Given the description of an element on the screen output the (x, y) to click on. 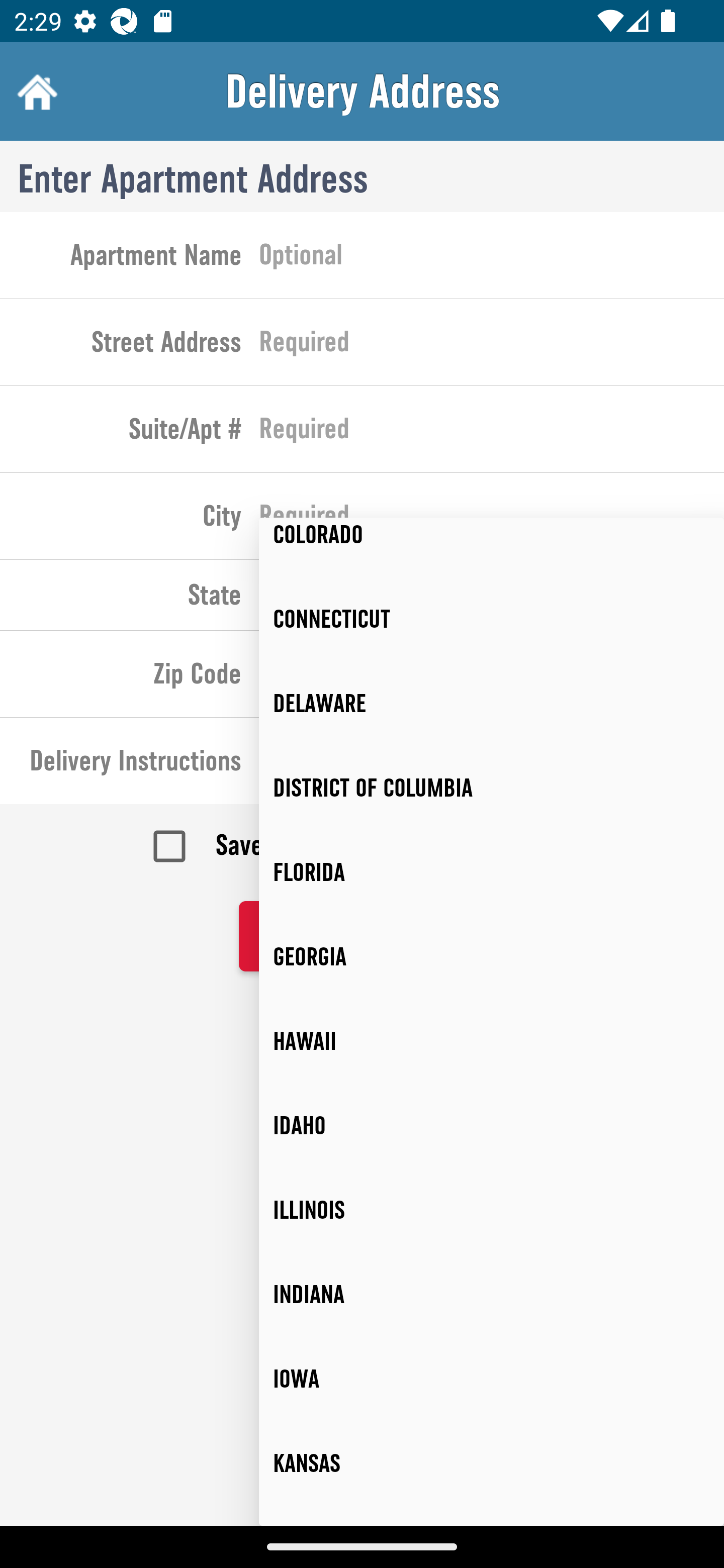
COLORADO (491, 547)
CONNECTICUT (491, 619)
DELAWARE (491, 703)
DISTRICT OF COLUMBIA (491, 787)
FLORIDA (491, 871)
GEORGIA (491, 956)
HAWAII (491, 1040)
IDAHO (491, 1125)
ILLINOIS (491, 1210)
INDIANA (491, 1294)
IOWA (491, 1378)
KANSAS (491, 1462)
